Given the description of an element on the screen output the (x, y) to click on. 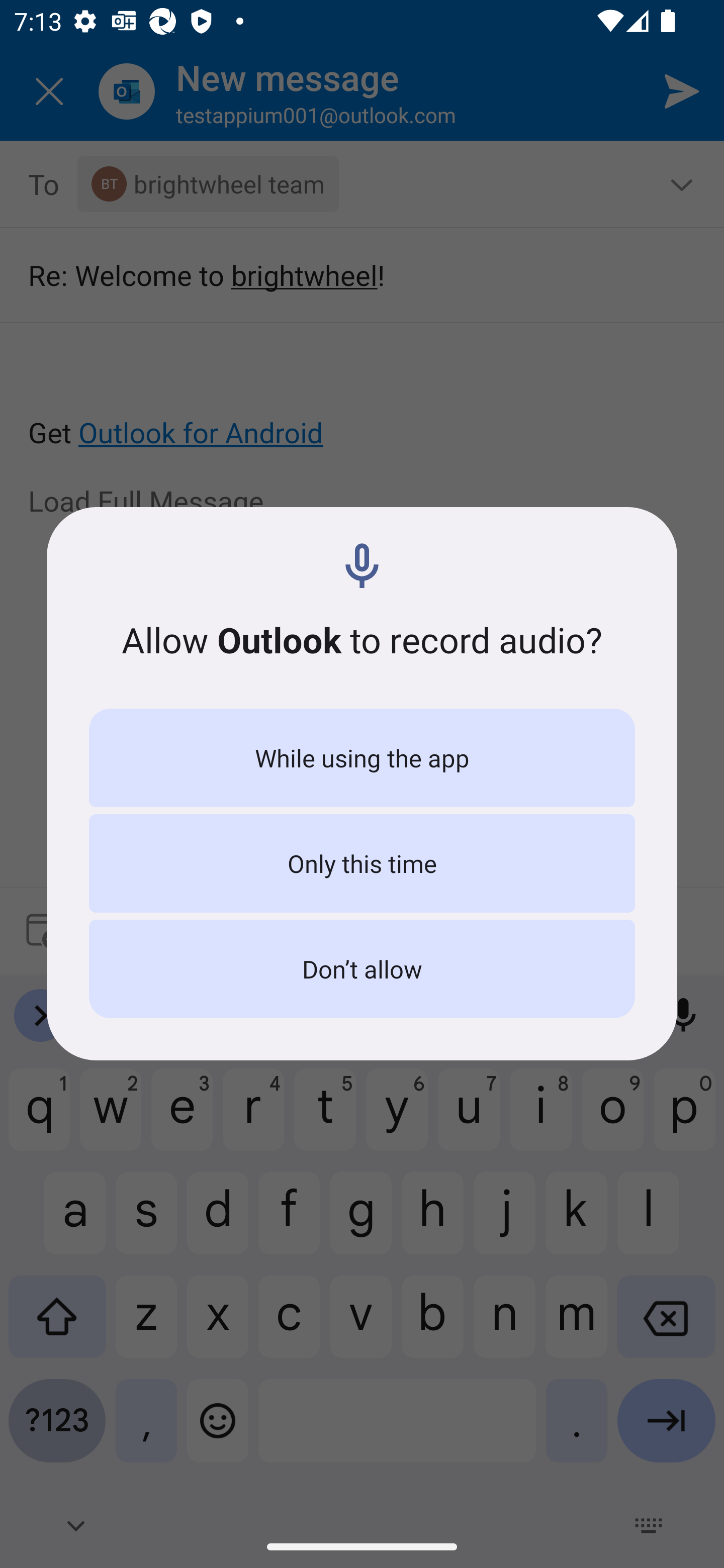
While using the app (361, 757)
Only this time (361, 862)
Don’t allow (361, 968)
